Given the description of an element on the screen output the (x, y) to click on. 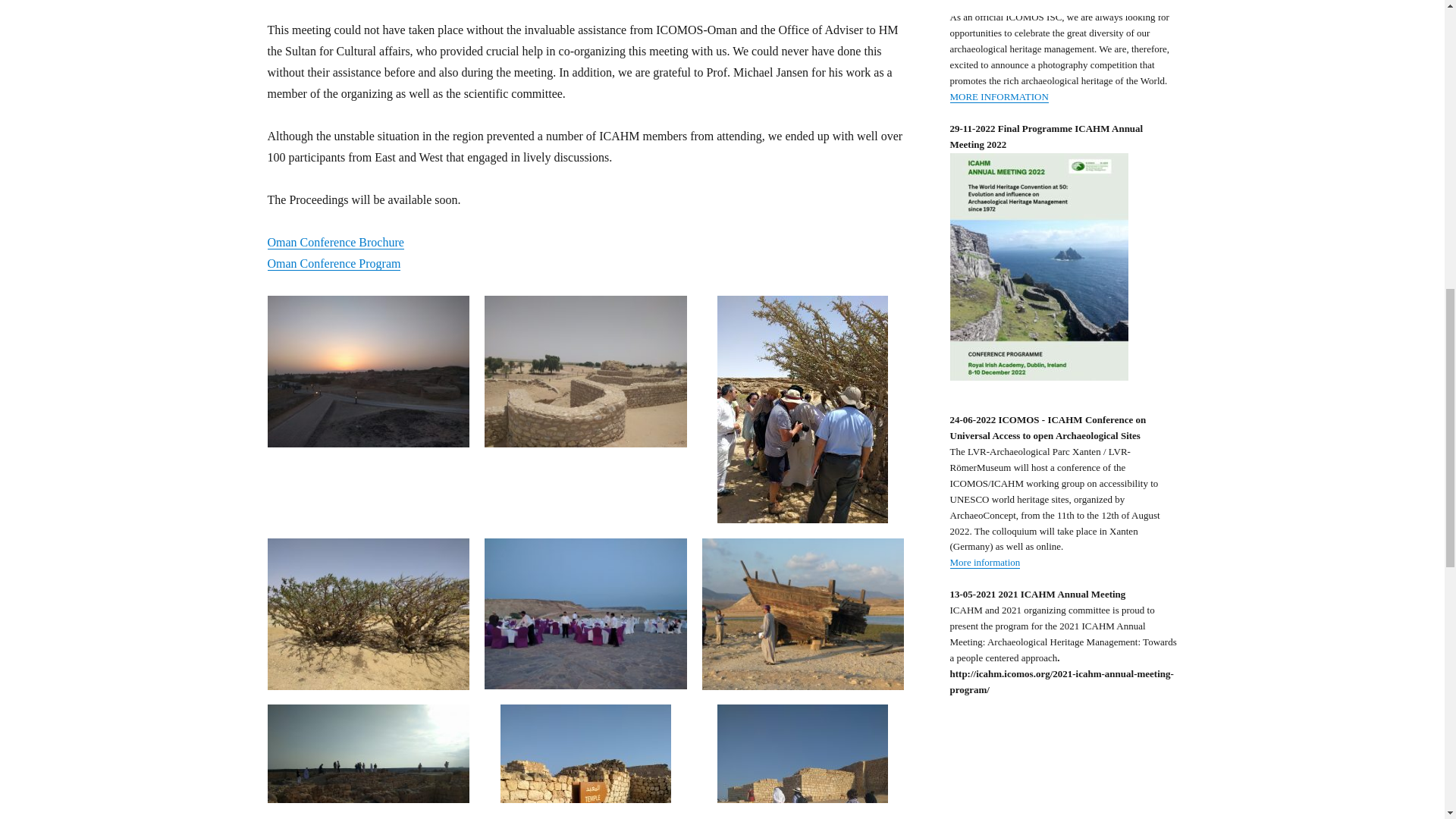
Oman Conference Program (333, 263)
Oman Conference Brochure (334, 241)
